Given the description of an element on the screen output the (x, y) to click on. 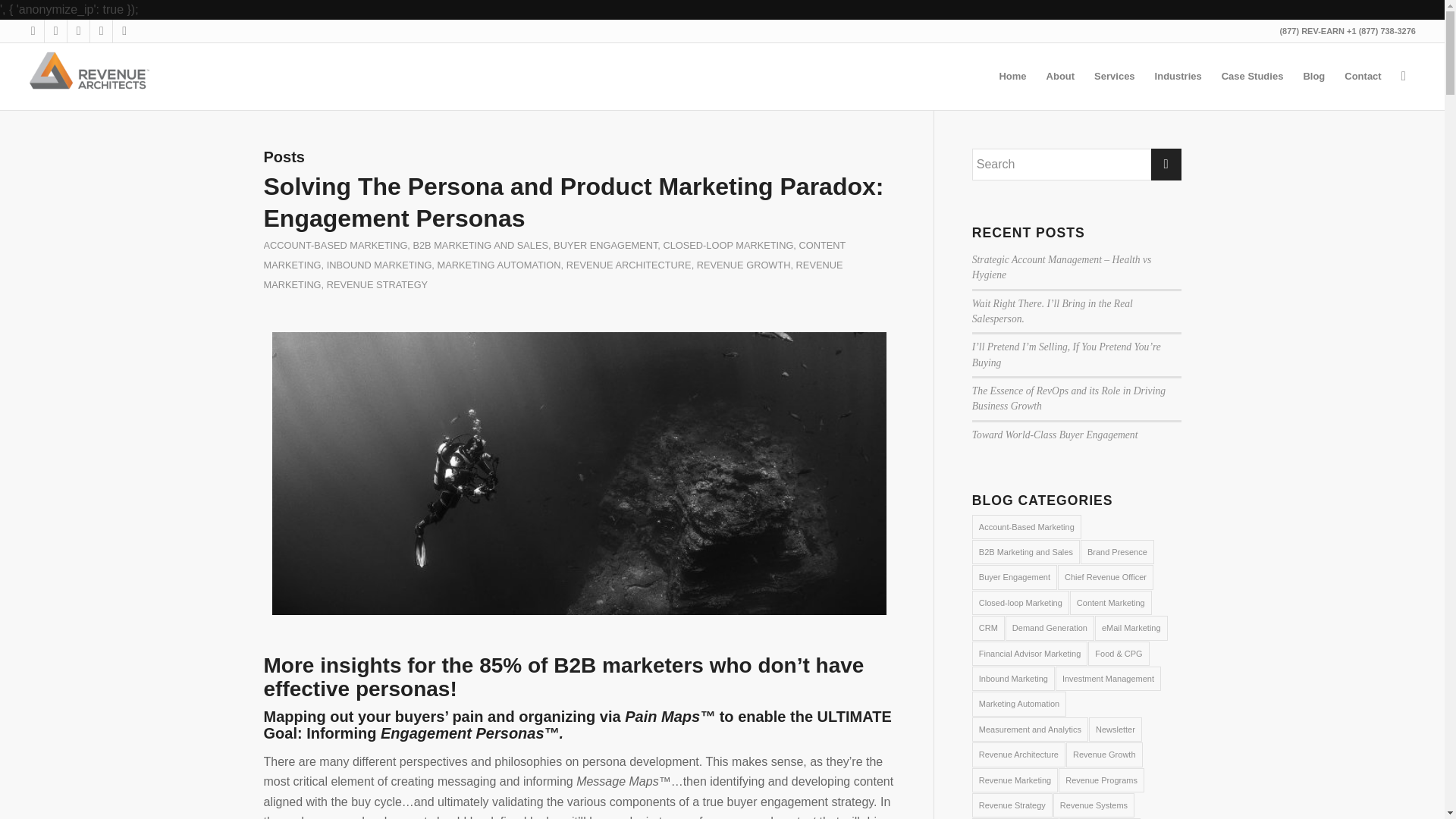
Services (1114, 76)
About (1060, 76)
Case Studies (1252, 76)
Home (1011, 76)
LinkedIn (77, 30)
Mail (101, 30)
Facebook (55, 30)
Blog (1313, 76)
Contact (1362, 76)
Industries (1177, 76)
Rss (124, 30)
Twitter (32, 30)
